Given the description of an element on the screen output the (x, y) to click on. 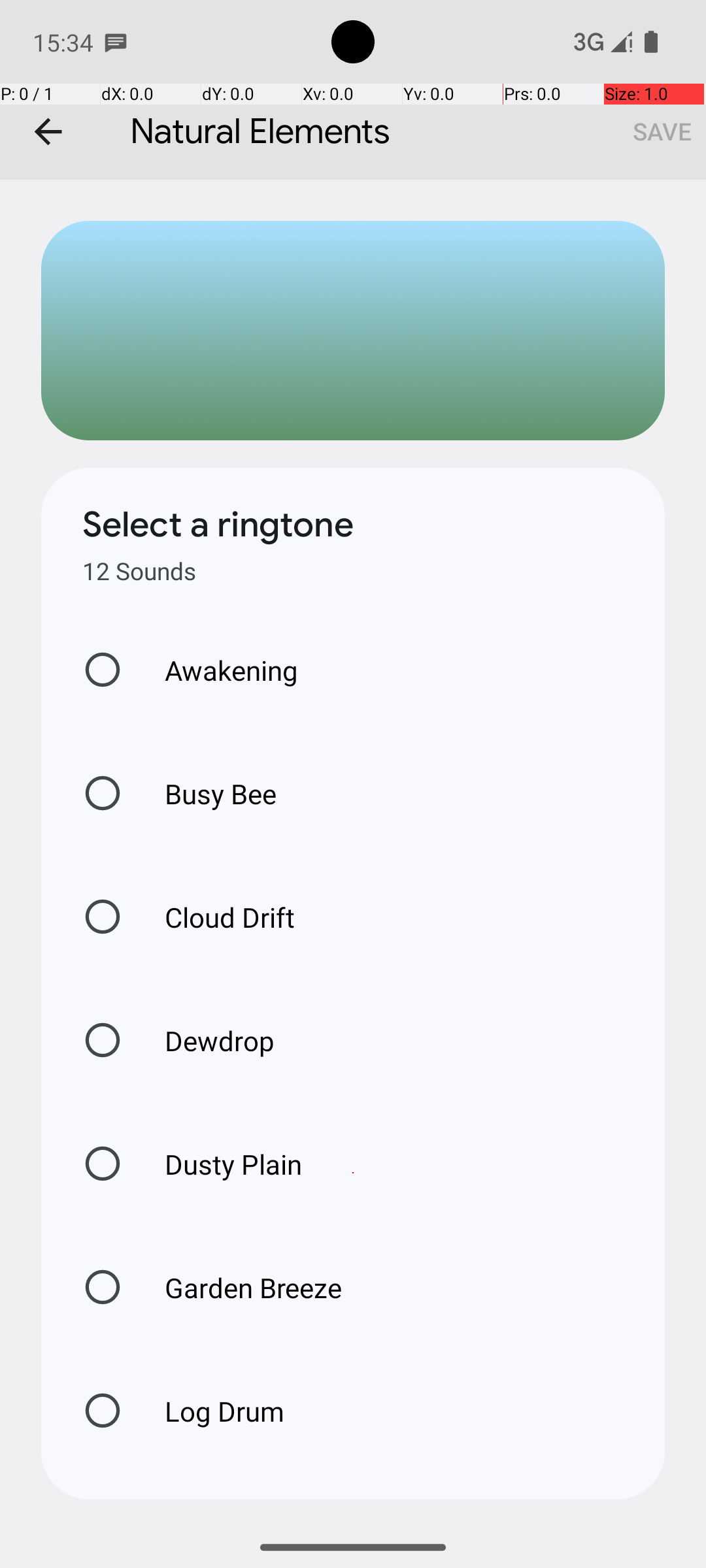
Natural Elements Element type: android.widget.FrameLayout (353, 89)
Select a ringtone Element type: android.widget.TextView (217, 524)
12 Sounds Element type: android.widget.TextView (139, 570)
Awakening Element type: android.widget.TextView (217, 669)
Busy Bee Element type: android.widget.TextView (206, 793)
Cloud Drift Element type: android.widget.TextView (215, 916)
Dewdrop Element type: android.widget.TextView (205, 1040)
Dusty Plain Element type: android.widget.TextView (219, 1163)
Garden Breeze Element type: android.widget.TextView (239, 1287)
Log Drum Element type: android.widget.TextView (210, 1410)
